Given the description of an element on the screen output the (x, y) to click on. 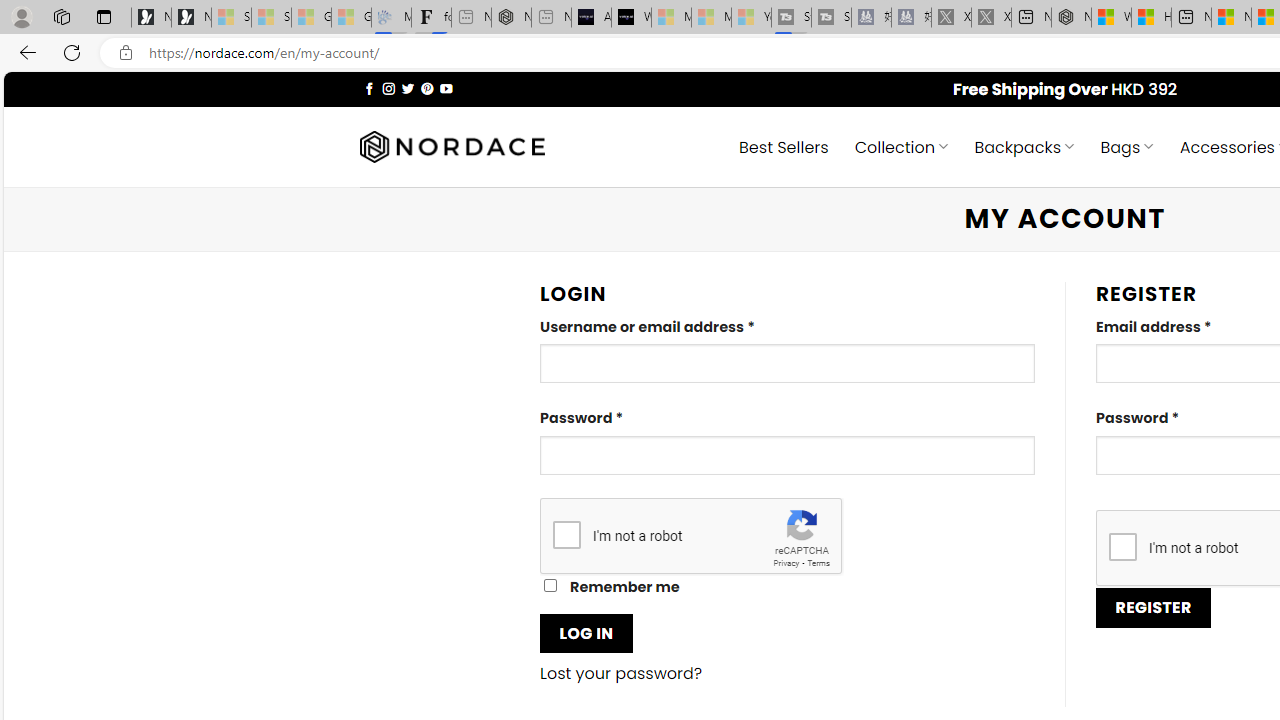
New tab - Sleeping (551, 17)
Streaming Coverage | T3 - Sleeping (791, 17)
Microsoft Start - Sleeping (711, 17)
Follow on Pinterest (427, 88)
Huge shark washes ashore at New York City beach | Watch (1151, 17)
Microsoft Start Sports - Sleeping (671, 17)
Follow on Twitter (406, 88)
Follow on YouTube (446, 88)
